Given the description of an element on the screen output the (x, y) to click on. 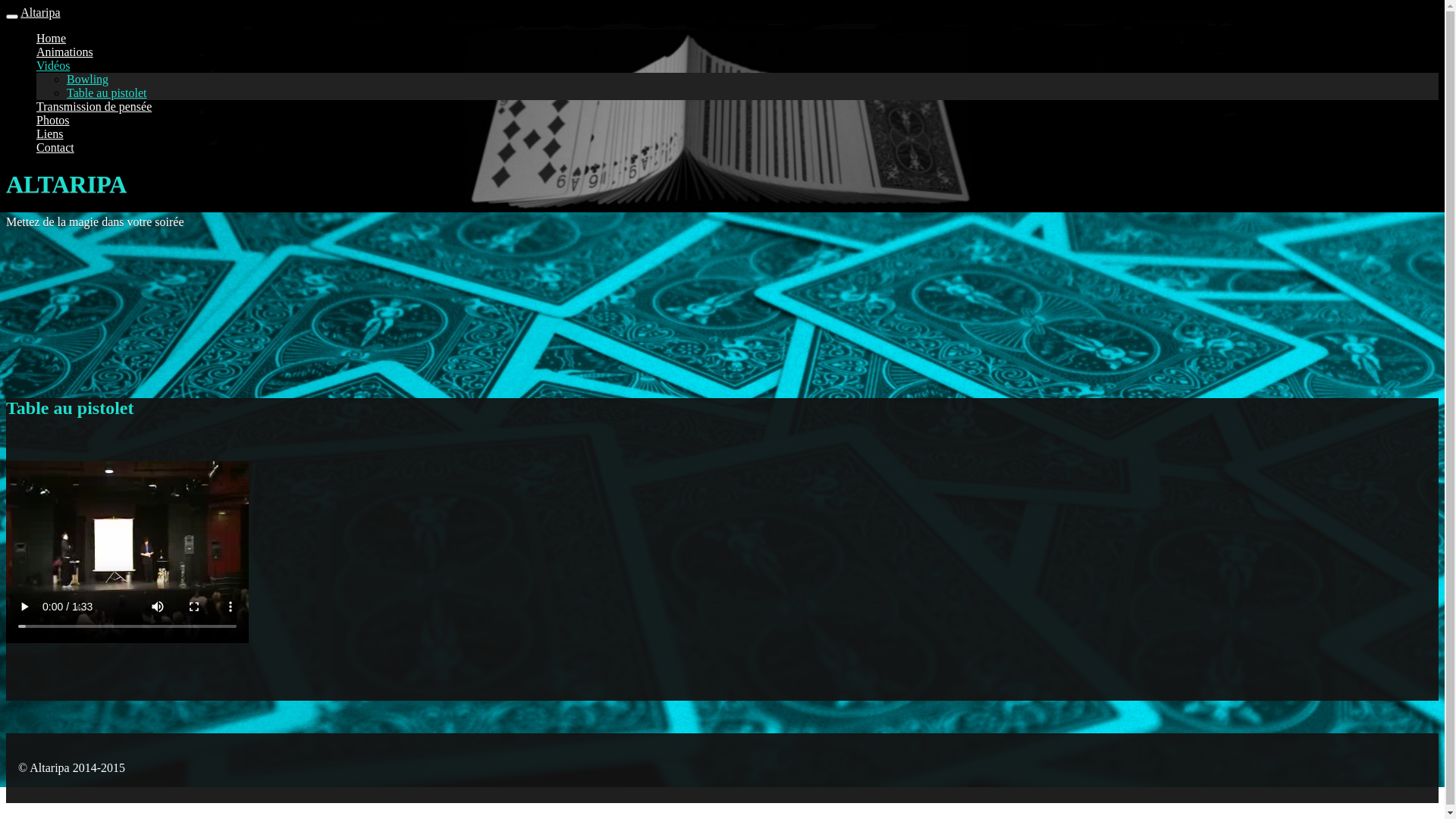
Animations Element type: text (64, 51)
Liens Element type: text (49, 133)
Photos Element type: text (52, 119)
Bowling Element type: text (87, 78)
Home Element type: text (50, 37)
Altaripa Element type: text (39, 12)
Contact Element type: text (55, 147)
Table au pistolet Element type: text (106, 92)
